Given the description of an element on the screen output the (x, y) to click on. 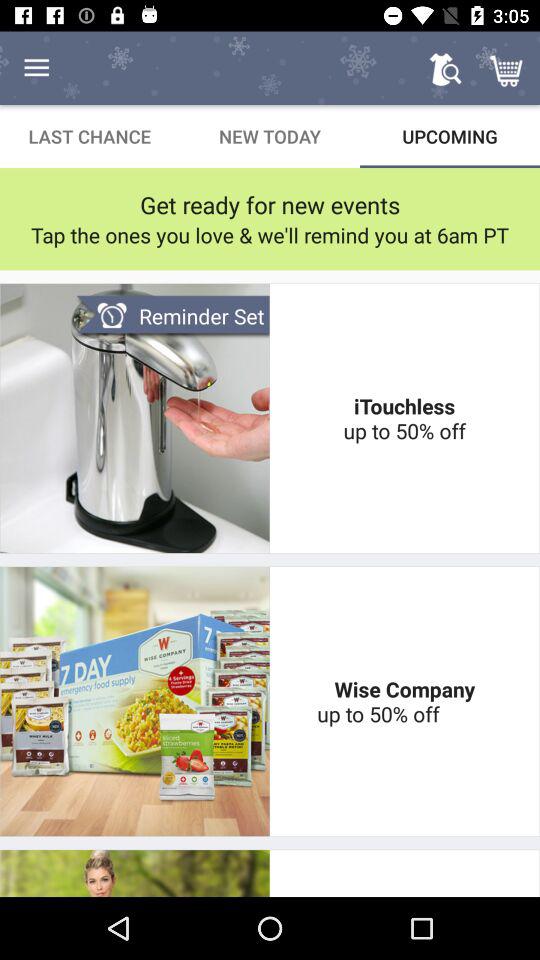
launch the item next to the itouchless up to icon (171, 316)
